Given the description of an element on the screen output the (x, y) to click on. 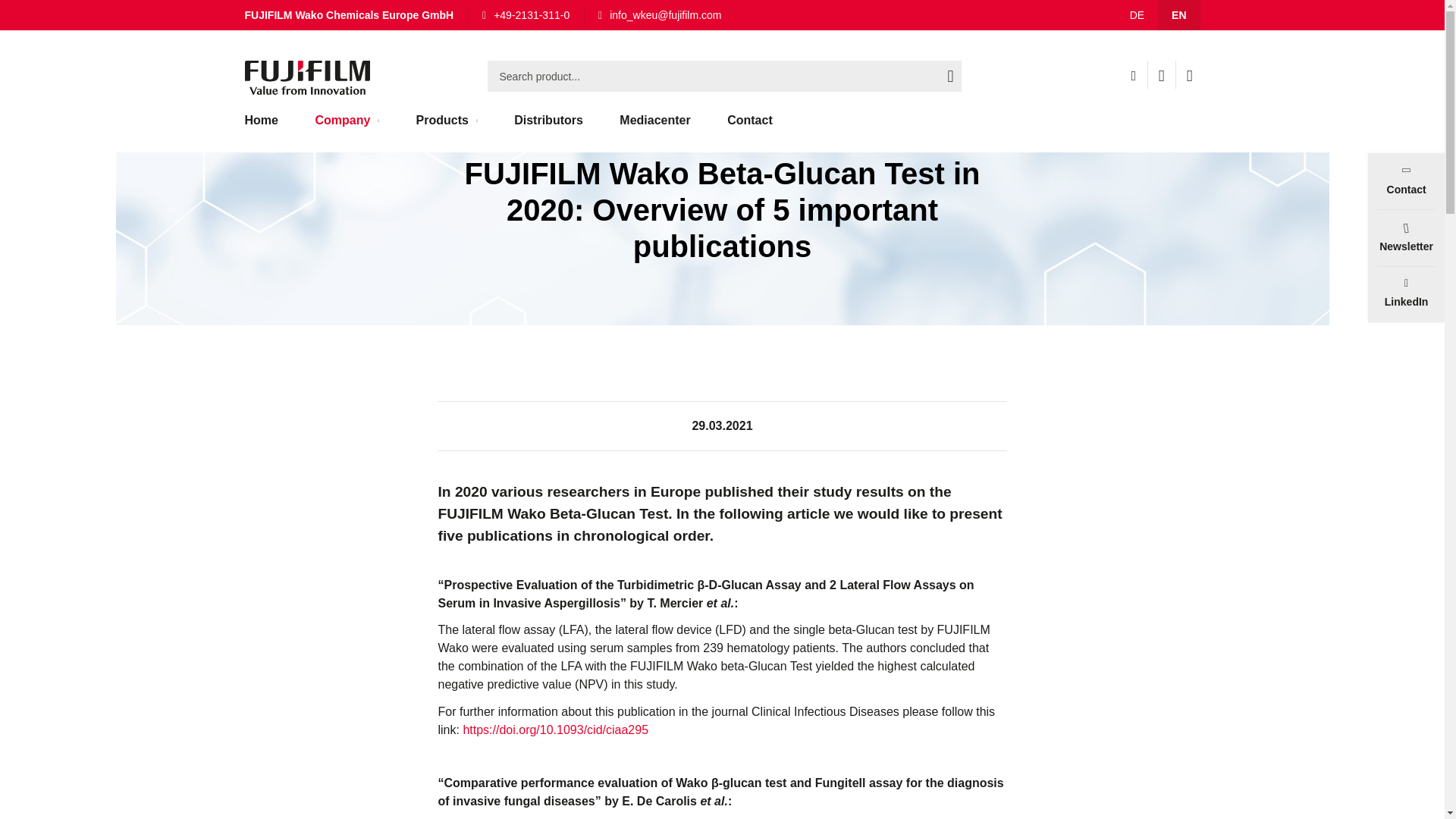
Company (328, 17)
Company (347, 127)
EN (1178, 15)
Distributors (548, 127)
FUJIFILM Wako Chemicals Europe GmbH - Switch to homepage (306, 77)
Home (261, 17)
Home (269, 127)
Mediacenter (654, 127)
Mediacenter (654, 127)
Distributors (548, 127)
